Given the description of an element on the screen output the (x, y) to click on. 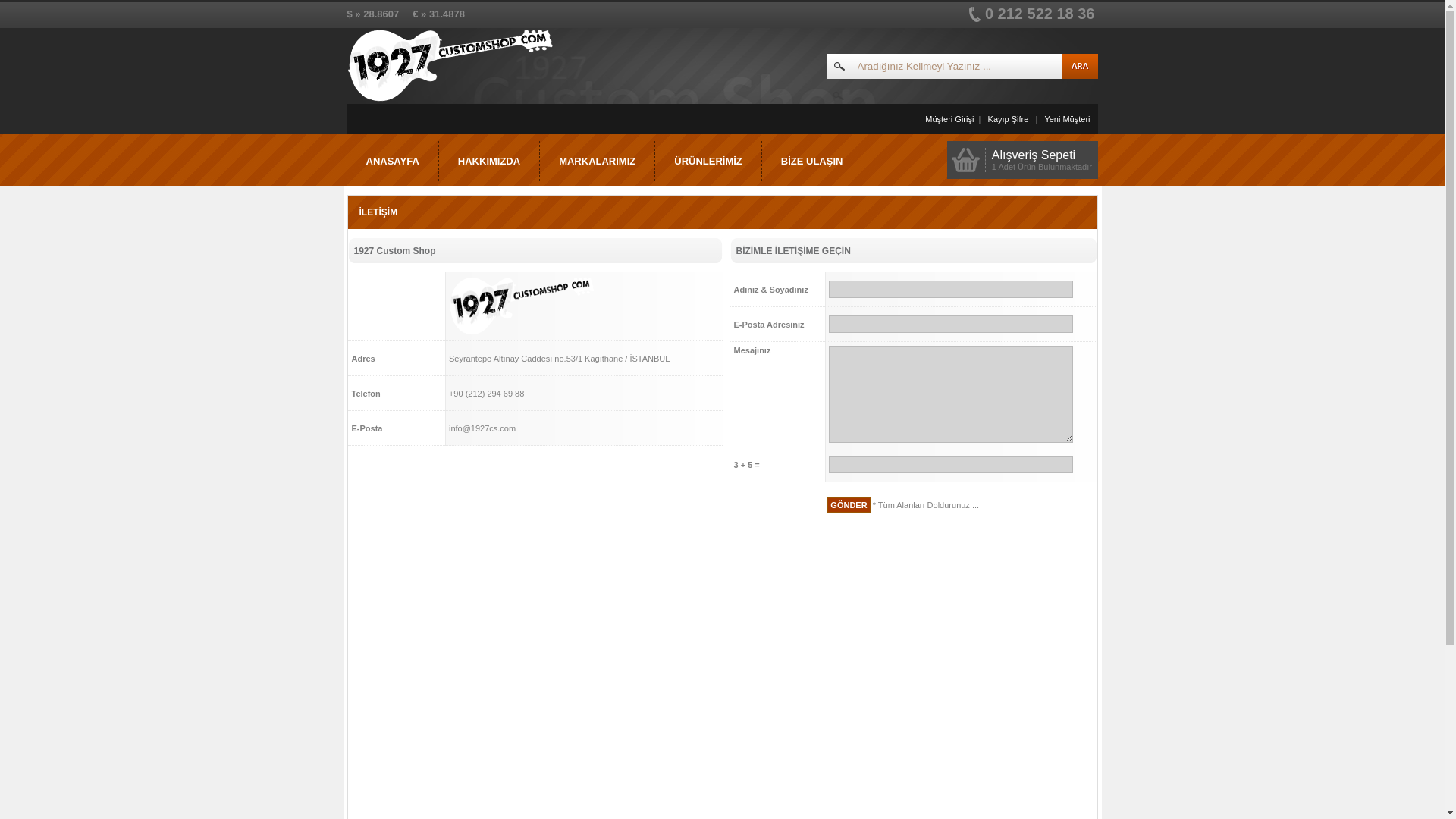
MARKALARIMIZ Element type: text (597, 161)
ANASAYFA Element type: text (393, 161)
HAKKIMIZDA Element type: text (489, 161)
